Given the description of an element on the screen output the (x, y) to click on. 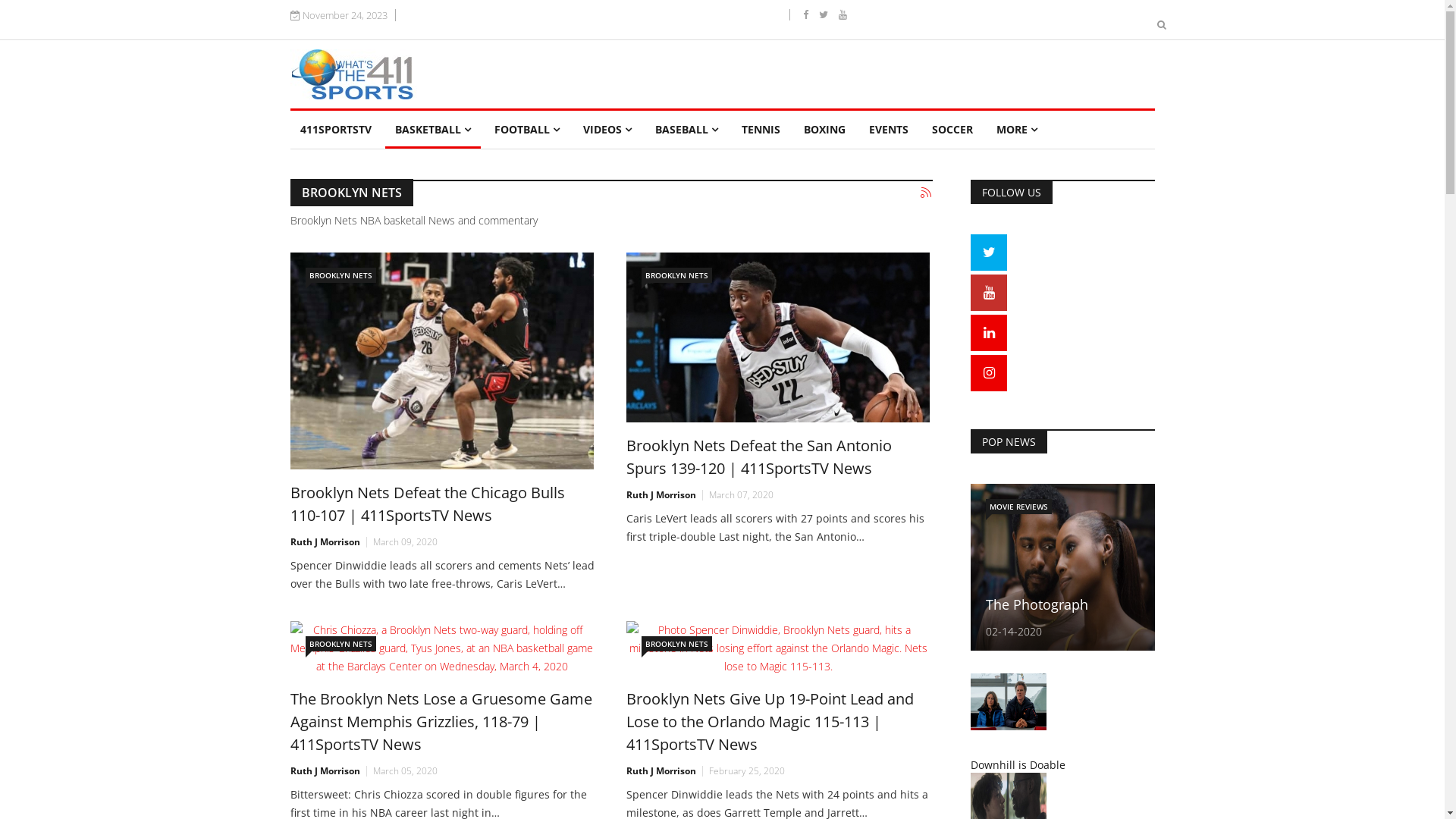
EVENTS Element type: text (887, 129)
VIDEOS Element type: text (607, 129)
FOOTBALL Element type: text (525, 129)
BOXING Element type: text (823, 129)
BROOKLYN NETS Element type: text (676, 643)
Twitter Element type: hover (988, 251)
Linkedin Element type: hover (988, 332)
Ruth J Morrison Element type: text (661, 770)
TENNIS Element type: text (760, 129)
BROOKLYN NETS Element type: text (340, 274)
MOVIE REVIEWS Element type: text (1018, 506)
SOCCER Element type: text (952, 129)
Instagram Element type: hover (988, 372)
Subscribe to this RSS feed Element type: hover (926, 193)
411SPORTSTV Element type: text (334, 129)
Ruth J Morrison Element type: text (324, 541)
BROOKLYN NETS Element type: text (340, 643)
BASKETBALL Element type: text (432, 129)
BASEBALL Element type: text (685, 129)
MORE Element type: text (1015, 129)
BROOKLYN NETS Element type: text (676, 274)
The Photograph Element type: text (1036, 604)
Ruth J Morrison Element type: text (661, 494)
Downhill is Doable Element type: text (1017, 764)
Ruth J Morrison Element type: text (324, 770)
YouTube Element type: hover (988, 291)
